Given the description of an element on the screen output the (x, y) to click on. 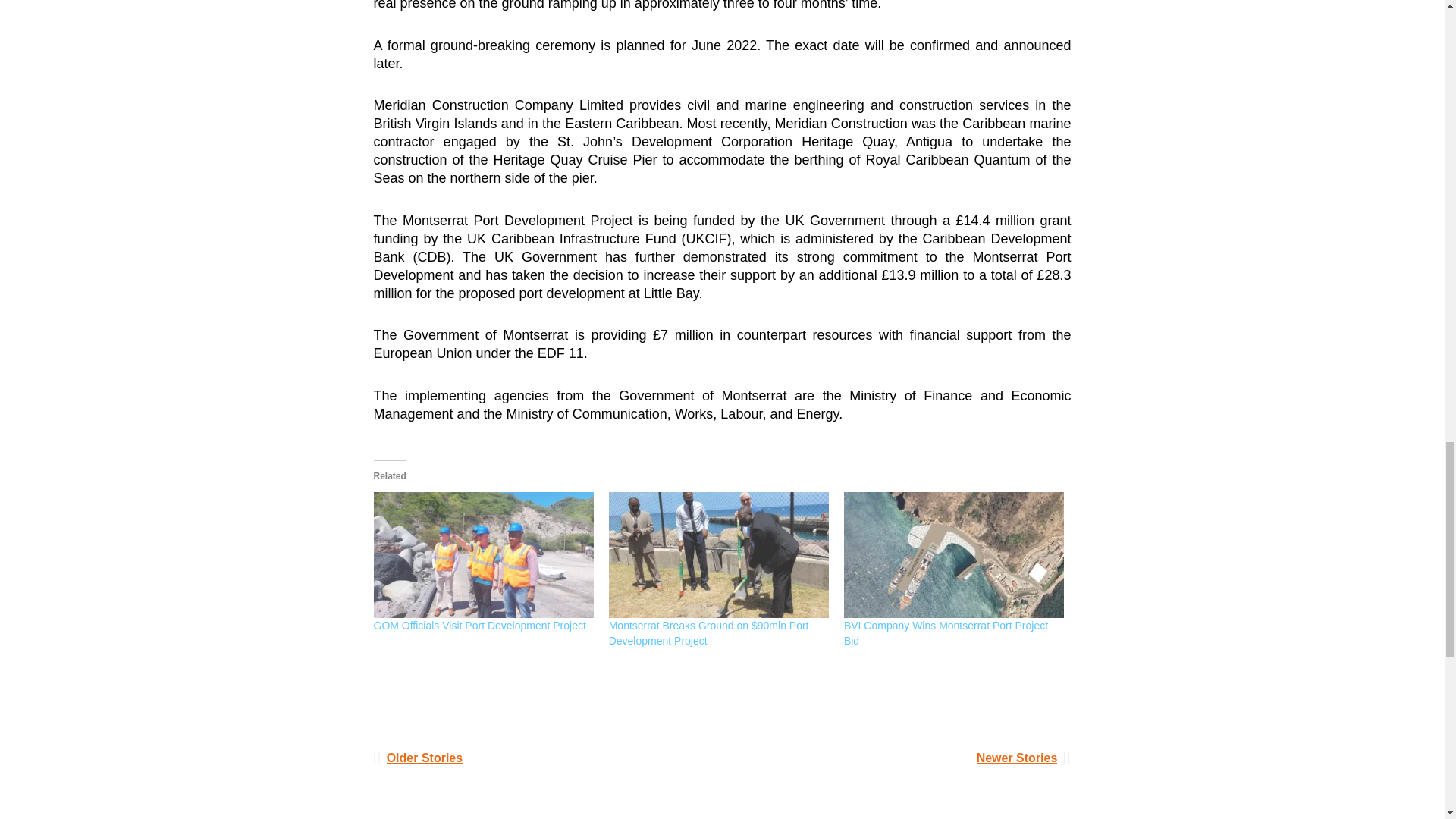
BVI Company Wins Montserrat Port Project Bid (946, 633)
GOM Officials Visit Port Development Project (478, 625)
BVI Company Wins Montserrat Port Project Bid (954, 555)
GOM Officials Visit Port Development Project (482, 555)
